Given the description of an element on the screen output the (x, y) to click on. 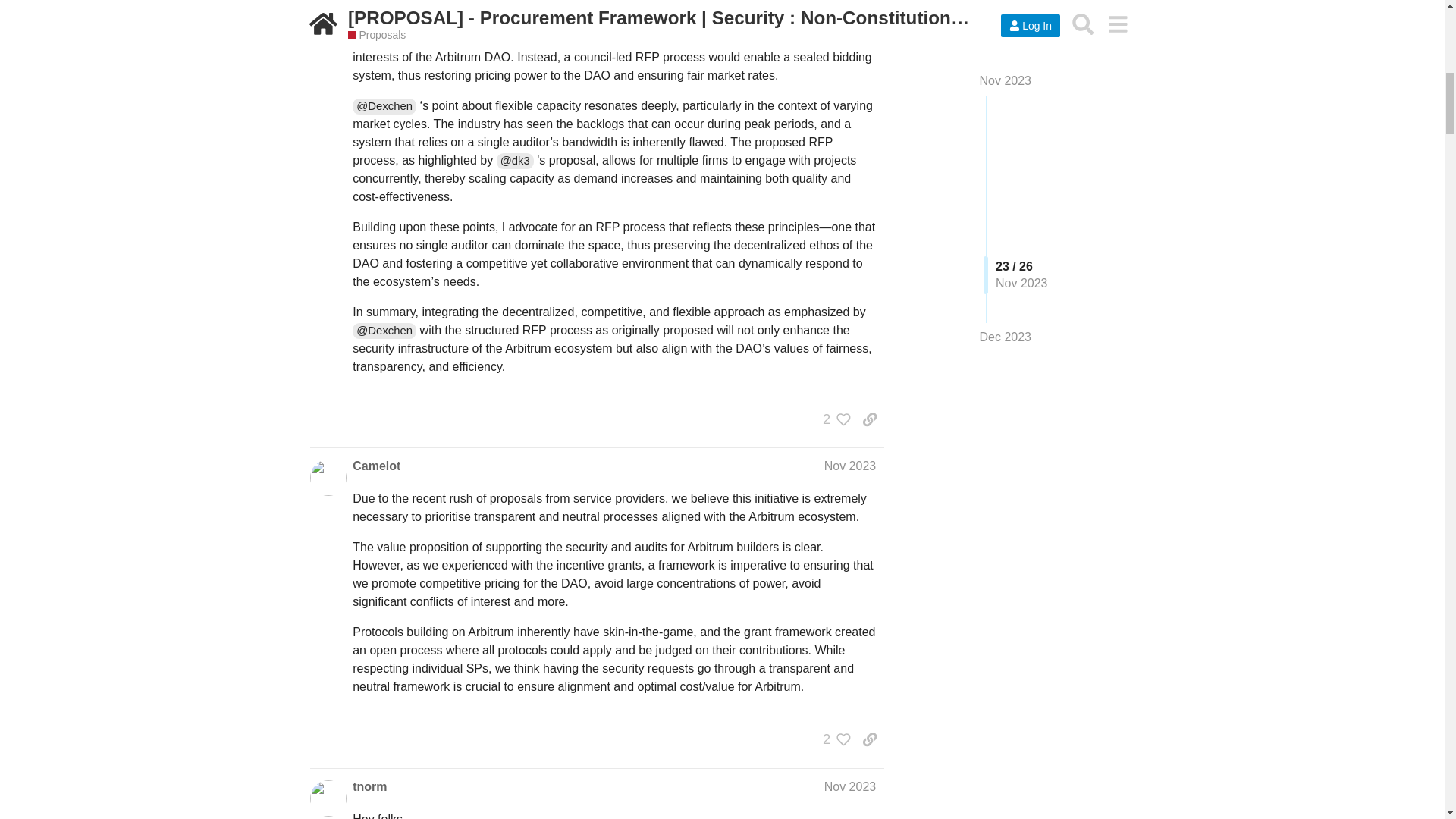
Nov 2023 (850, 465)
2 (832, 739)
Camelot (376, 466)
2 (832, 419)
